Given the description of an element on the screen output the (x, y) to click on. 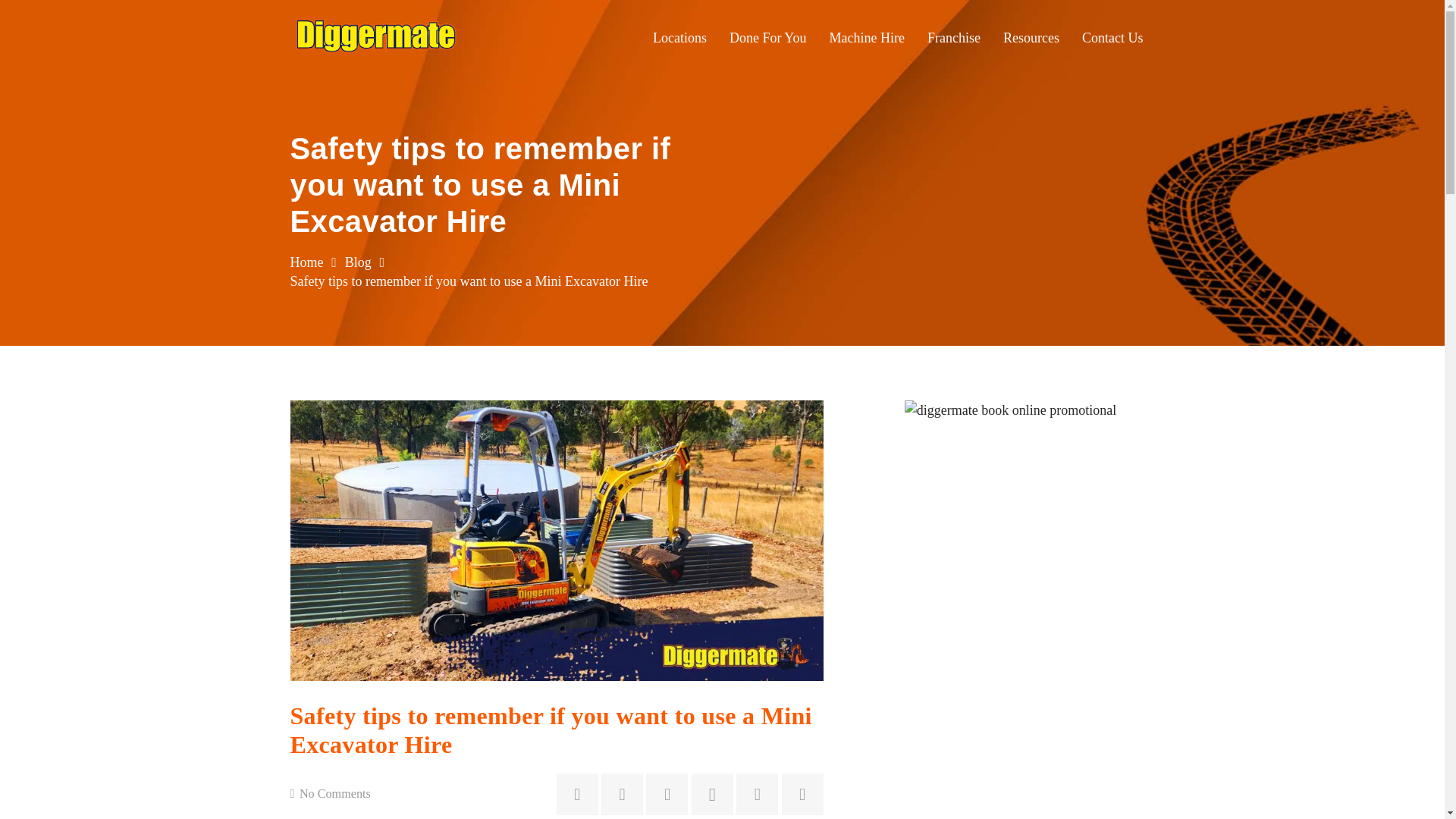
TikTok (756, 793)
Instagram (712, 793)
Machine Hire (866, 37)
YouTube (622, 793)
Email (577, 793)
LinkedIn (802, 793)
No Comments (335, 793)
Resources (1030, 37)
Blog (358, 262)
Locations (679, 37)
Done For You (767, 37)
Franchise (953, 37)
Facebook (666, 793)
Contact Us (1112, 37)
Home (306, 262)
